Given the description of an element on the screen output the (x, y) to click on. 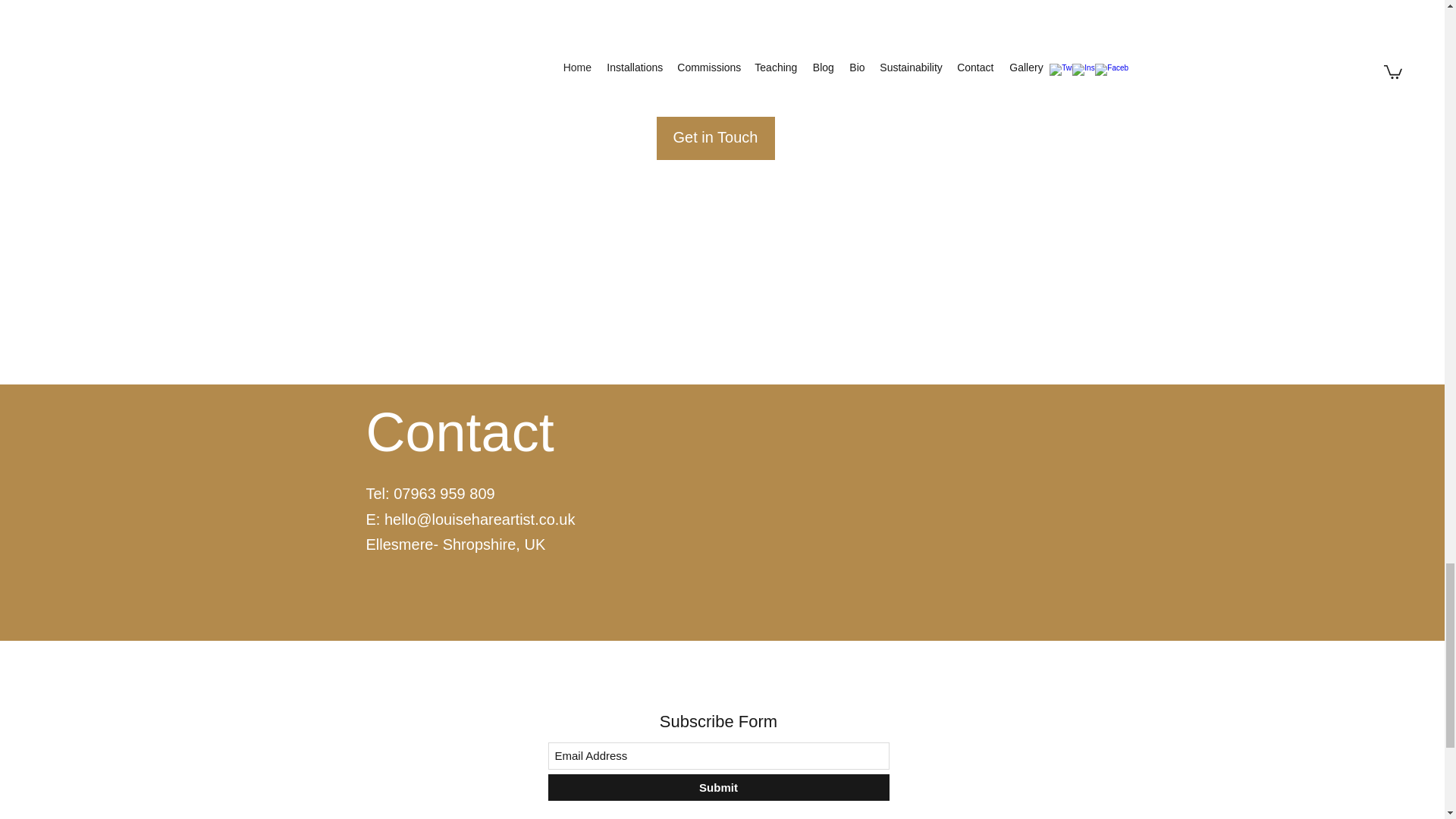
Submit (1039, 44)
Submit (717, 786)
Get in Touch (715, 136)
